Given the description of an element on the screen output the (x, y) to click on. 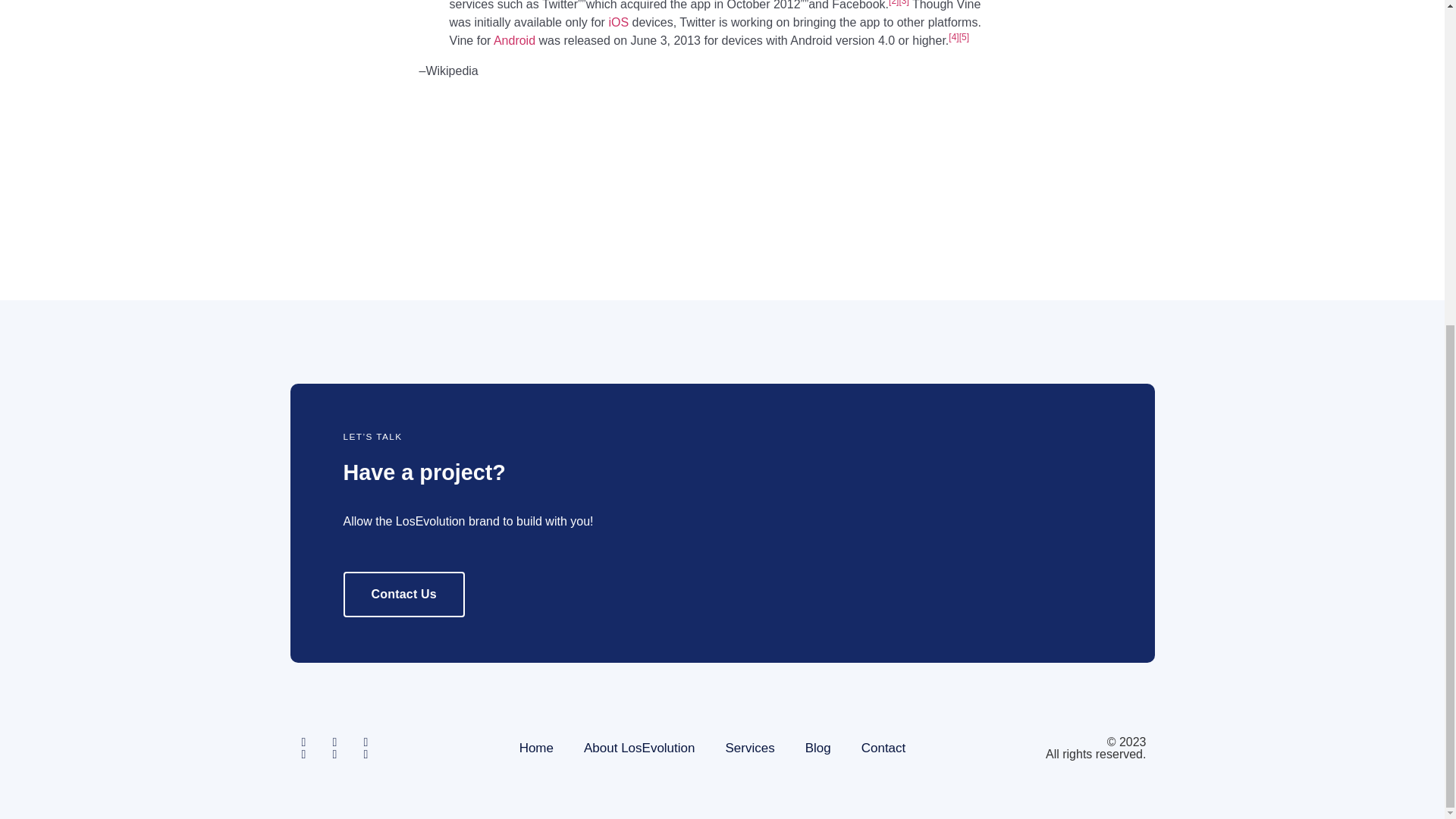
IOS (618, 21)
Services (749, 748)
Blog (817, 748)
About LosEvolution (639, 748)
iOS (618, 21)
Contact (883, 748)
Android (514, 40)
Contact Us (403, 594)
Home (536, 748)
